Given the description of an element on the screen output the (x, y) to click on. 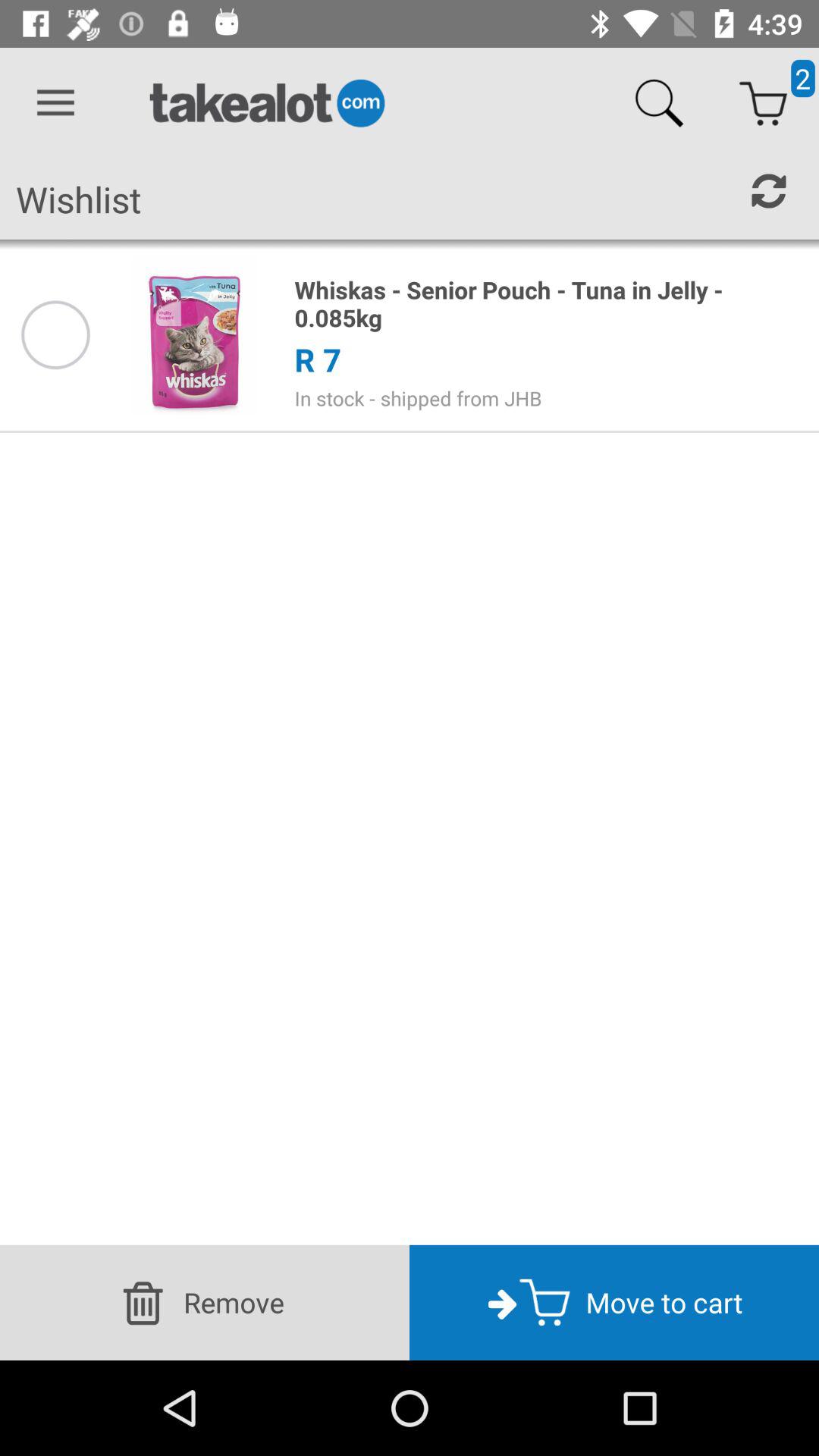
turn off whiskas senior pouch (548, 303)
